Given the description of an element on the screen output the (x, y) to click on. 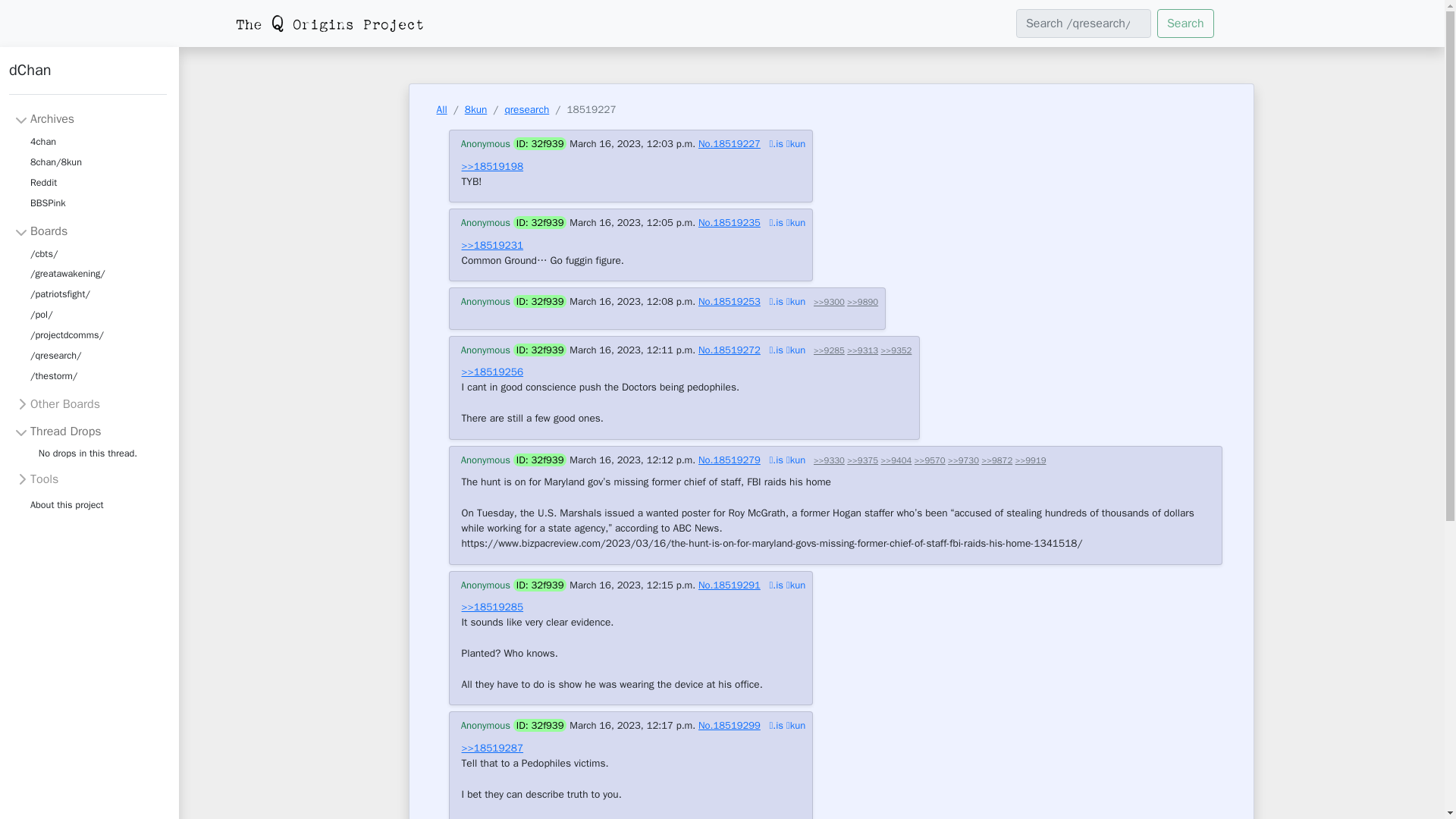
dChan (87, 76)
Reddit (43, 182)
Archives (44, 119)
4chan (43, 141)
BBSPink (47, 203)
Boards (41, 231)
Search (1185, 23)
Other Boards (57, 404)
